Given the description of an element on the screen output the (x, y) to click on. 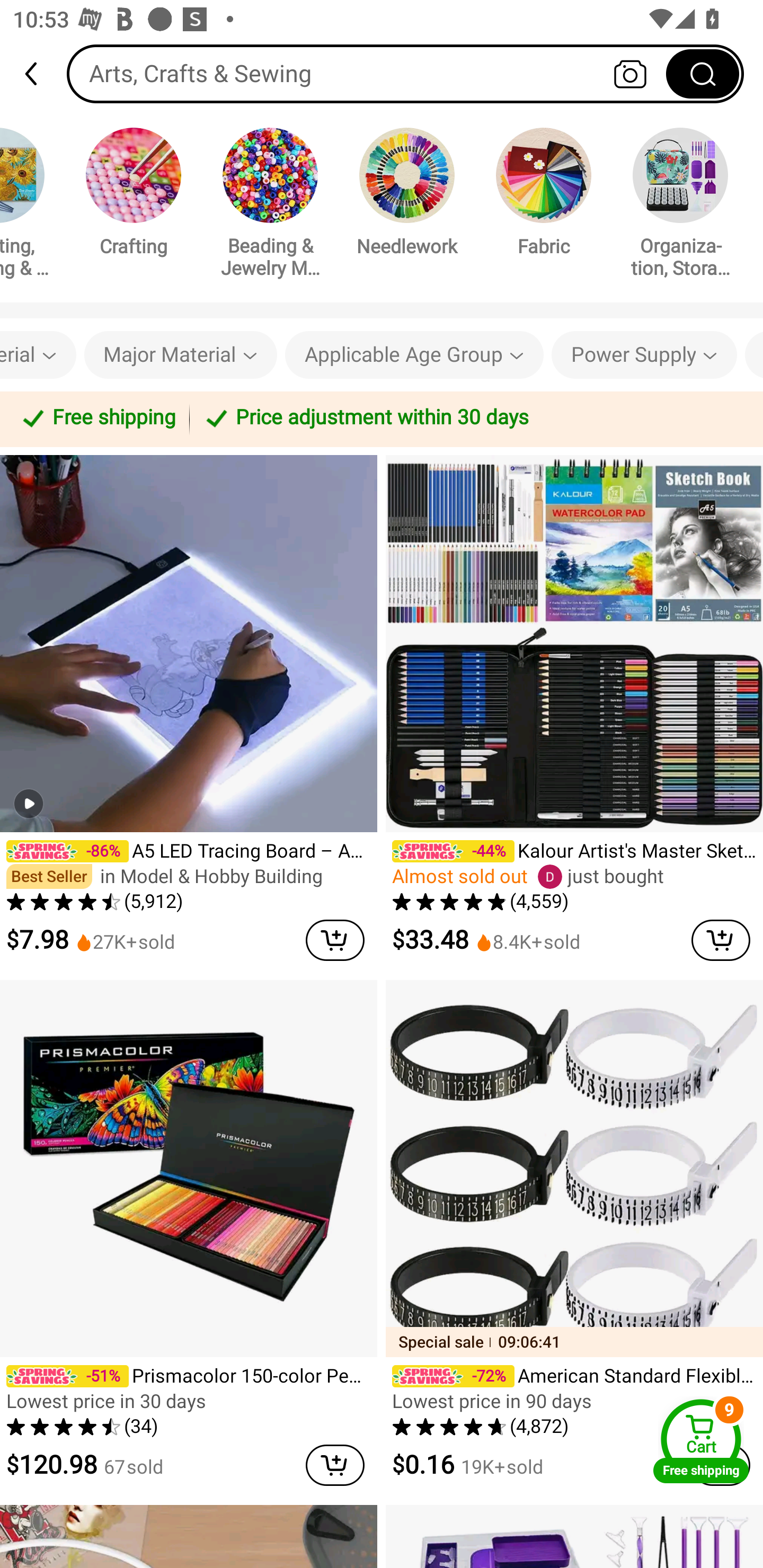
back (39, 73)
Arts, Crafts & Sewing (405, 73)
Crafting (133, 195)
Beading & Jewelry Making (269, 205)
Needlework (406, 195)
Fabric (543, 195)
Organization, Storage & Transport (680, 205)
Material (38, 354)
Major Material (179, 354)
Applicable Age Group (414, 354)
Power Supply (644, 354)
Free shipping (97, 418)
Price adjustment within 30 days (472, 418)
cart delete (334, 939)
cart delete (720, 939)
Cart Free shipping Cart (701, 1440)
cart delete (334, 1465)
